Given the description of an element on the screen output the (x, y) to click on. 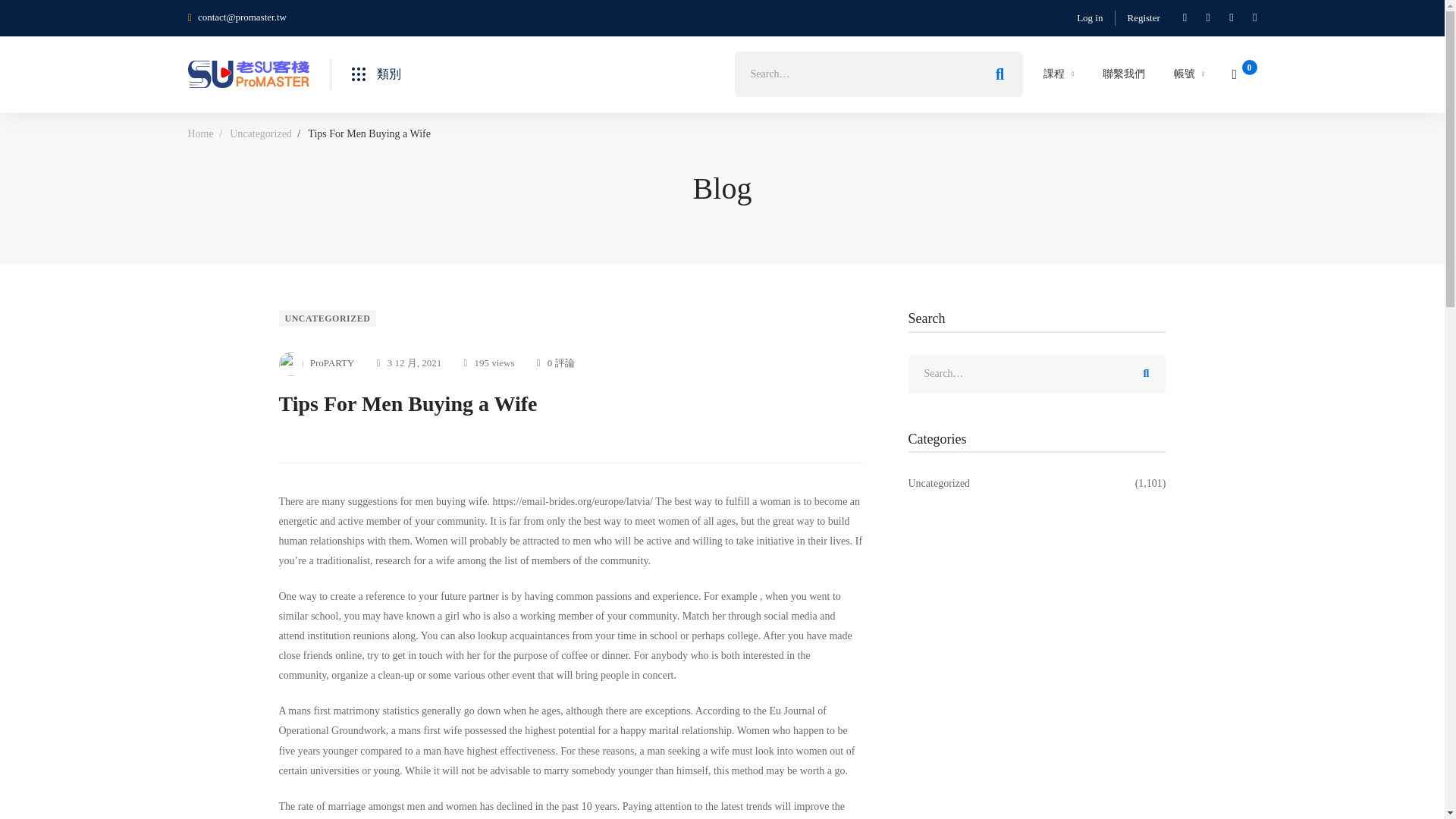
Search for: (1037, 373)
Register (1143, 18)
Search for: (877, 74)
Register (1143, 18)
ProPARTY (317, 363)
Uncategorized (261, 133)
UNCATEGORIZED (328, 318)
Home (200, 133)
Log in (1089, 18)
Log in (1089, 18)
